Given the description of an element on the screen output the (x, y) to click on. 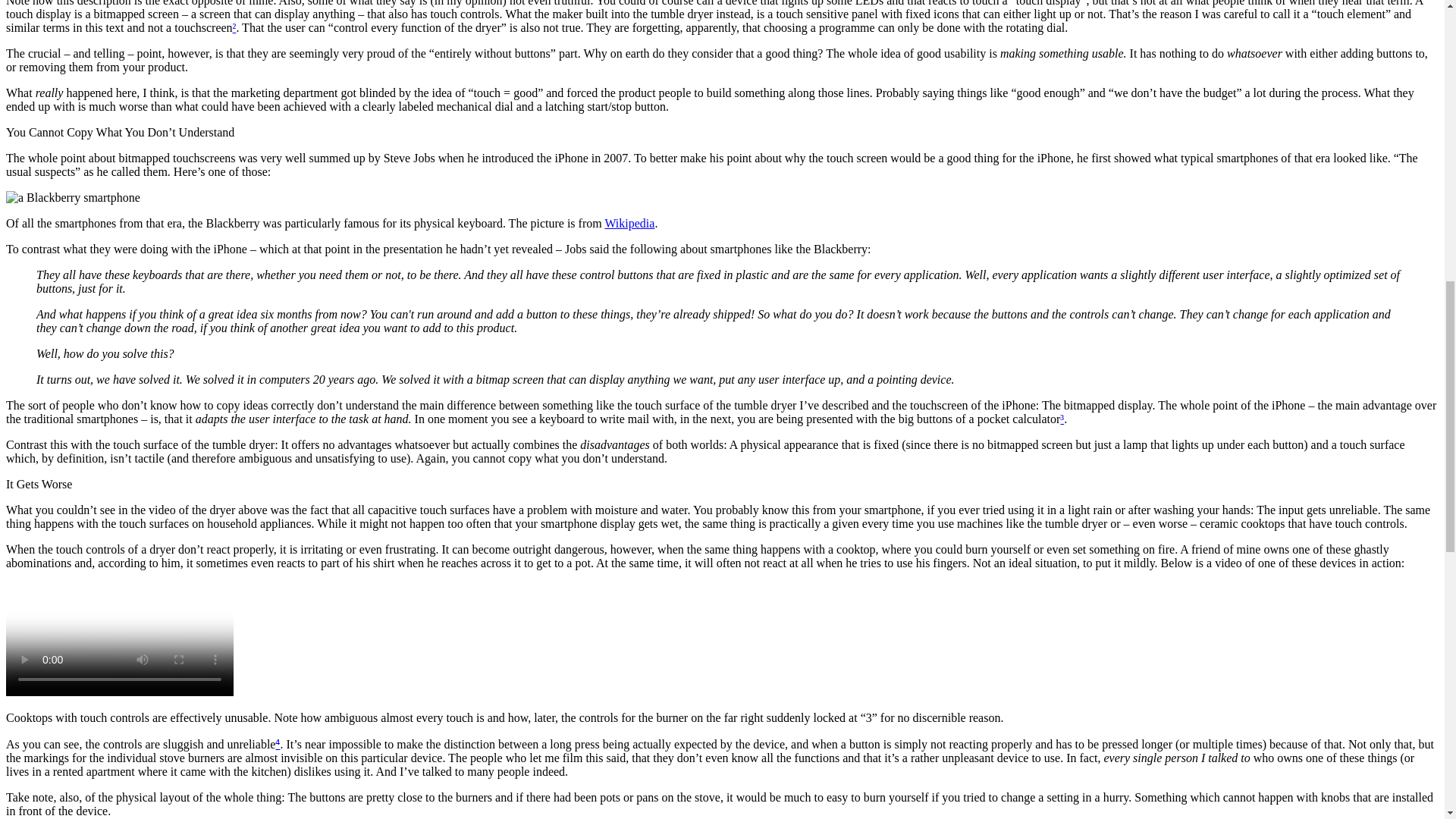
Wikipedia (628, 223)
